Given the description of an element on the screen output the (x, y) to click on. 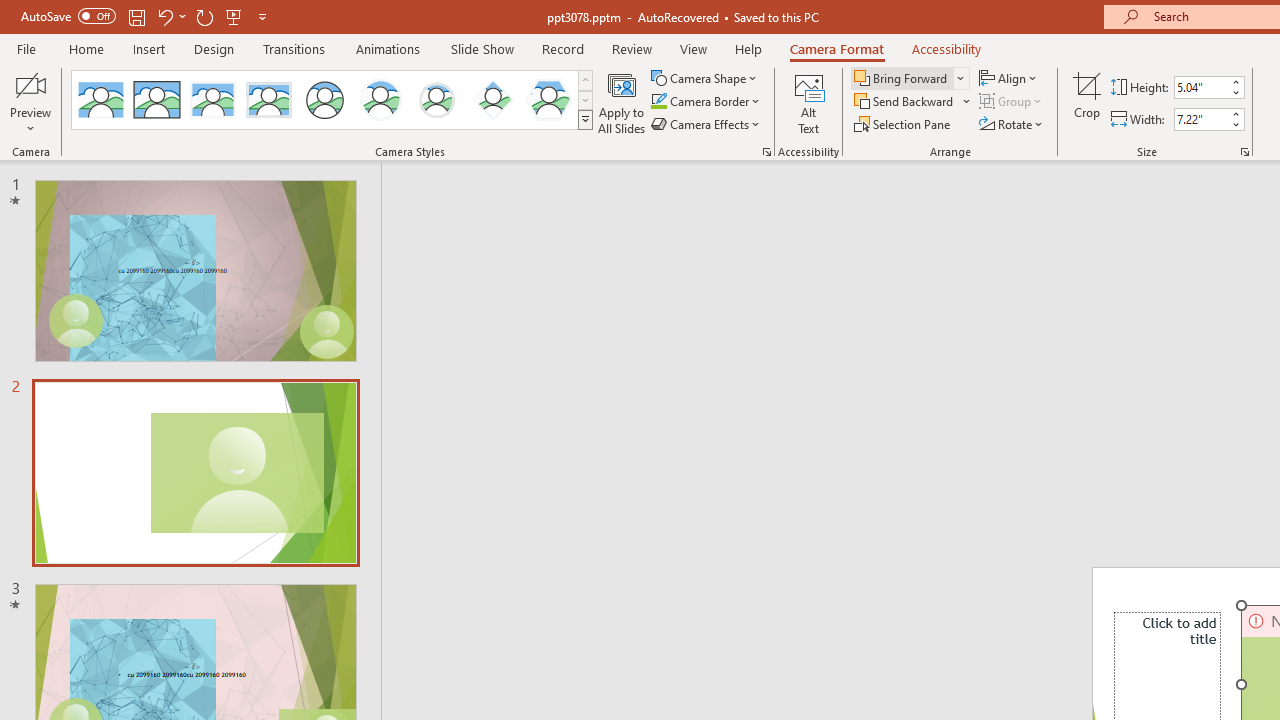
Send Backward (913, 101)
Crop (1087, 102)
Rotate (1012, 124)
Apply to All Slides (621, 102)
Enable Camera Preview (30, 84)
Align (1009, 78)
Simple Frame Circle (324, 100)
No Style (100, 100)
Camera Effects (706, 124)
